Given the description of an element on the screen output the (x, y) to click on. 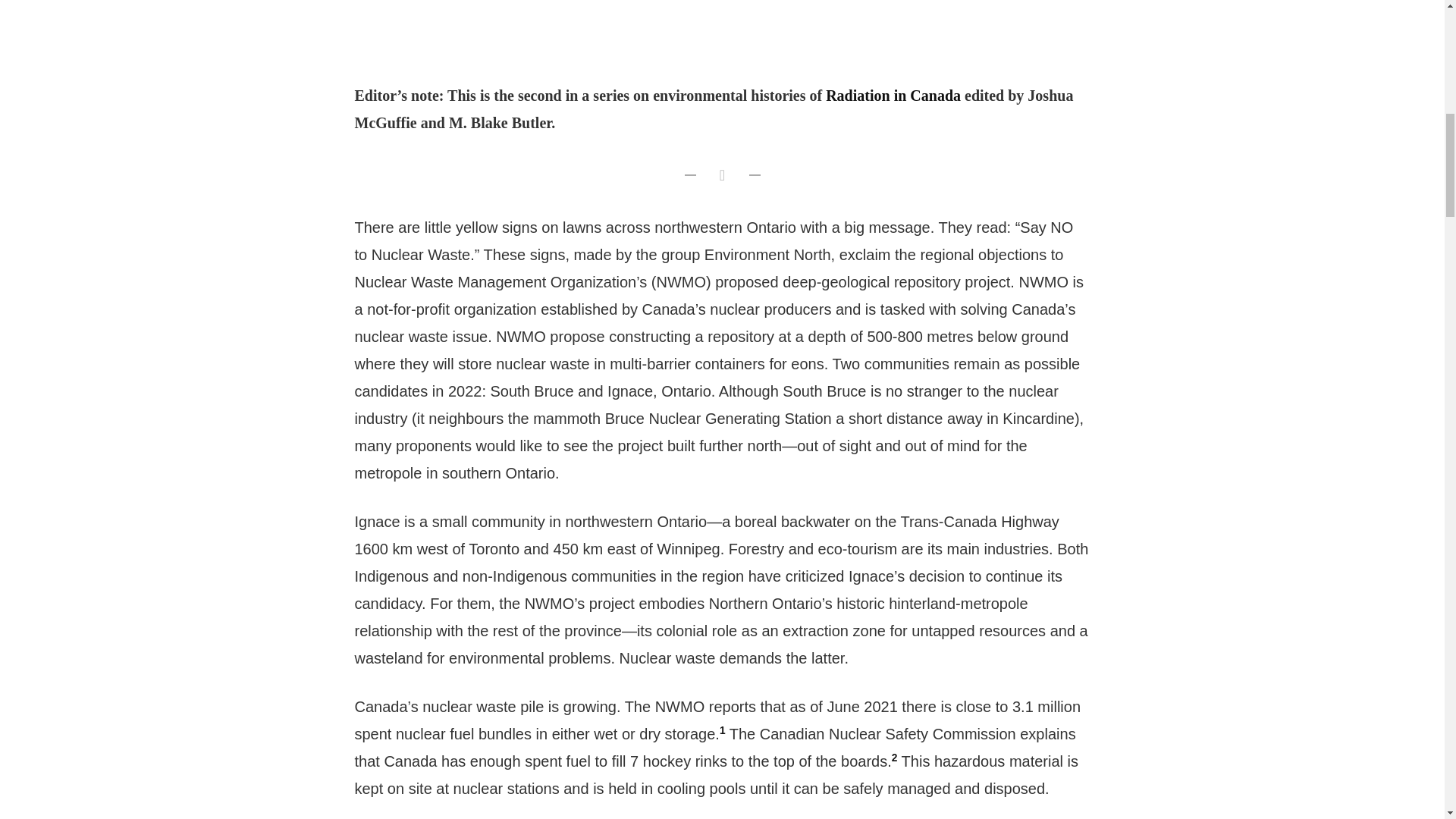
Radiation in Canada (892, 95)
